Given the description of an element on the screen output the (x, y) to click on. 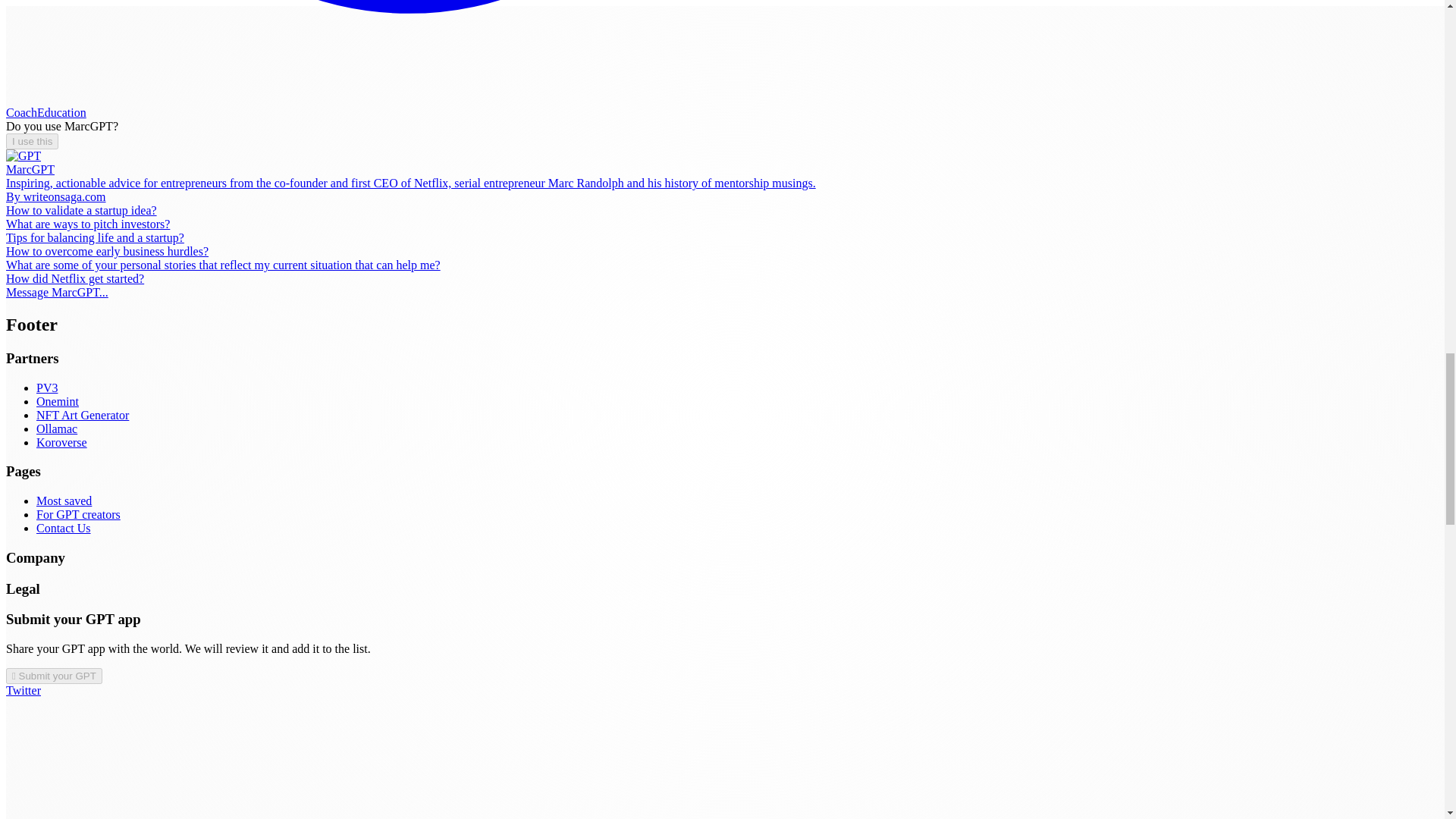
NFT Art Generator (82, 414)
Education (61, 112)
PV3 (47, 387)
I use this (31, 141)
Contact Us (63, 527)
Most saved (63, 500)
Onemint (57, 400)
Koroverse (61, 441)
Ollamac (56, 428)
Coach (21, 112)
